Given the description of an element on the screen output the (x, y) to click on. 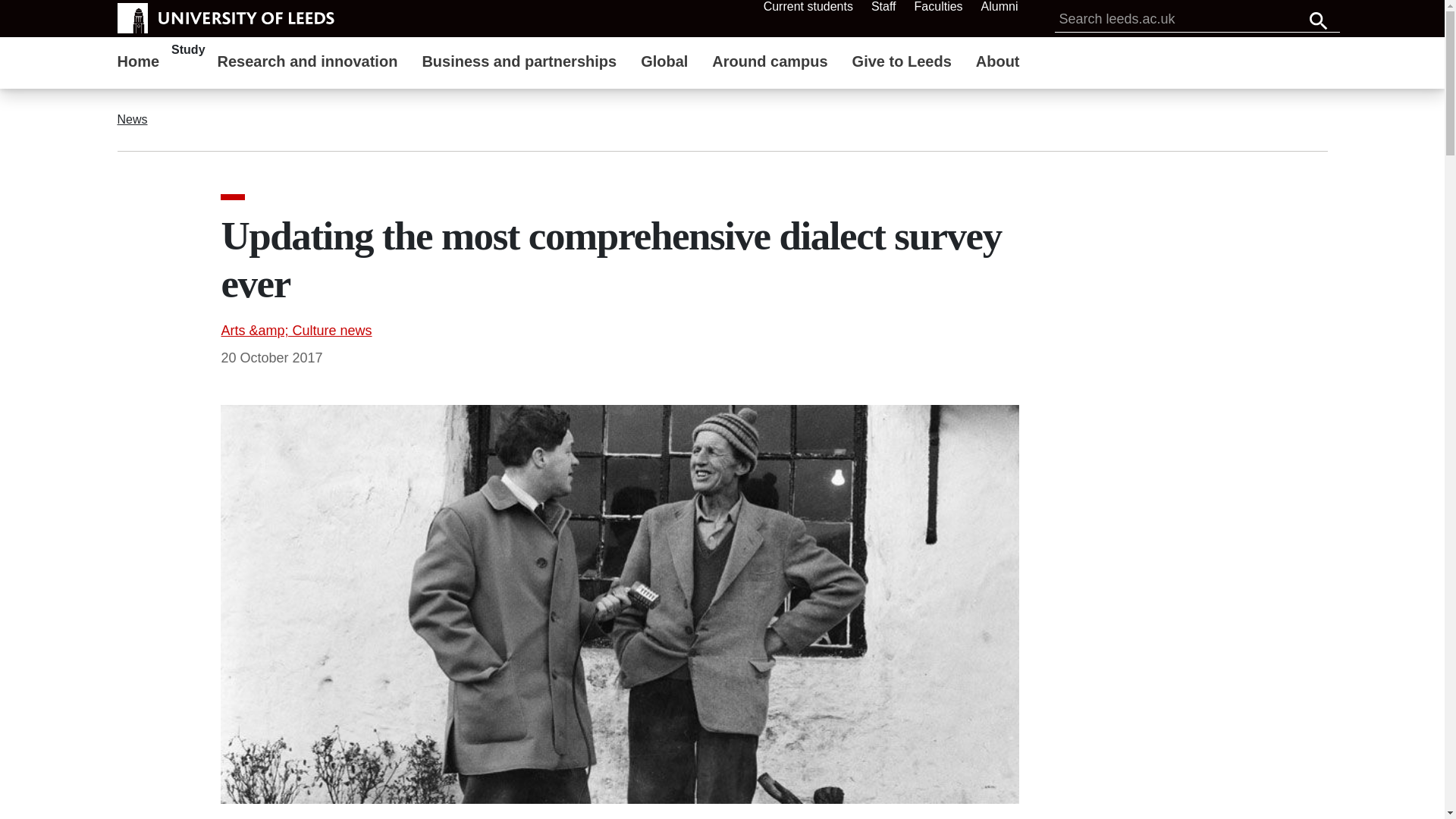
About (997, 62)
Research and innovation (307, 62)
Home (137, 62)
Global (664, 62)
Business and partnerships (518, 62)
Around campus (770, 62)
Give to Leeds (901, 62)
News (134, 119)
